Given the description of an element on the screen output the (x, y) to click on. 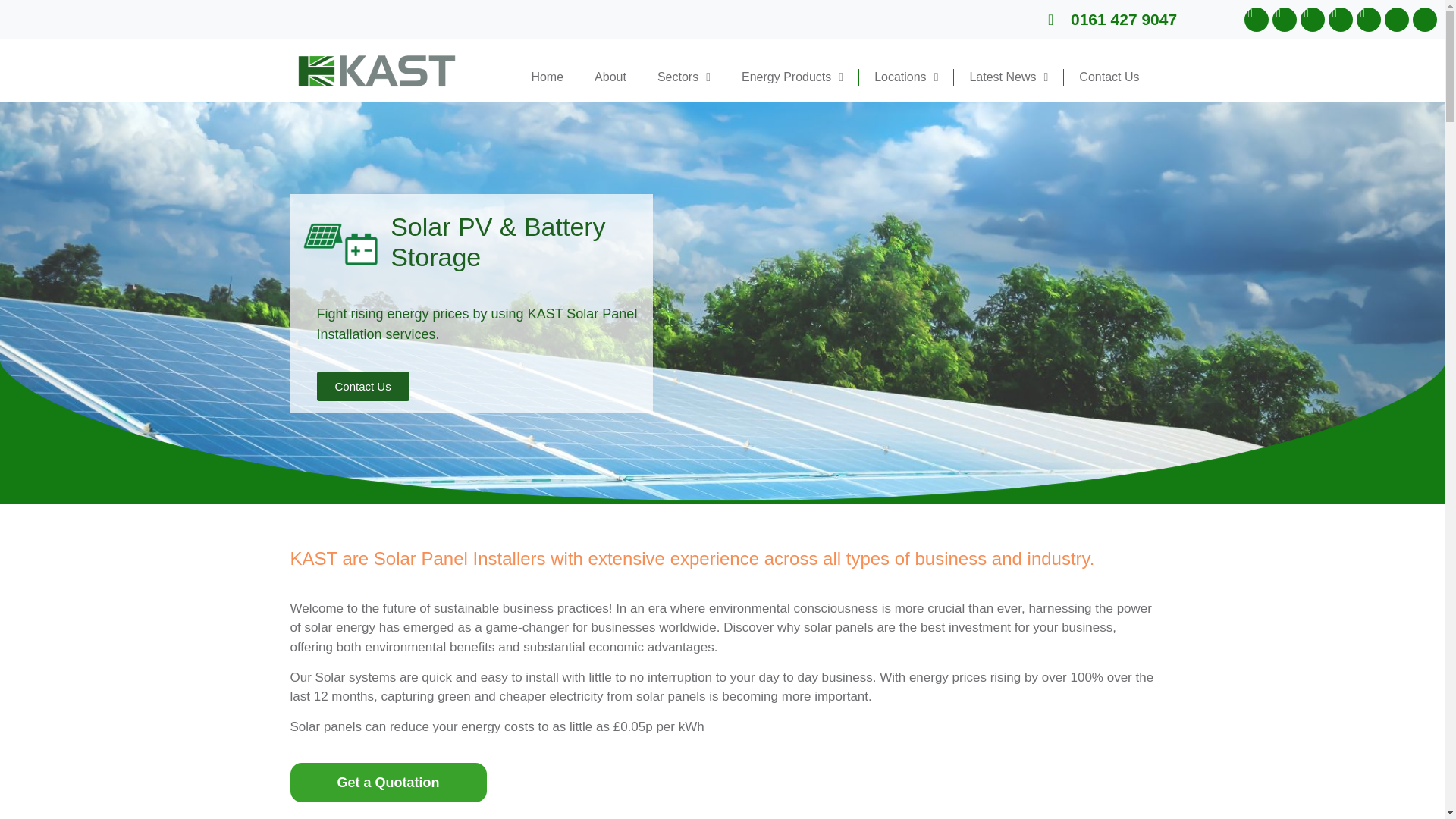
Home (546, 77)
0161 427 9047 (1112, 19)
Energy Products (792, 77)
Locations (906, 77)
About (610, 77)
Sectors (683, 77)
